Given the description of an element on the screen output the (x, y) to click on. 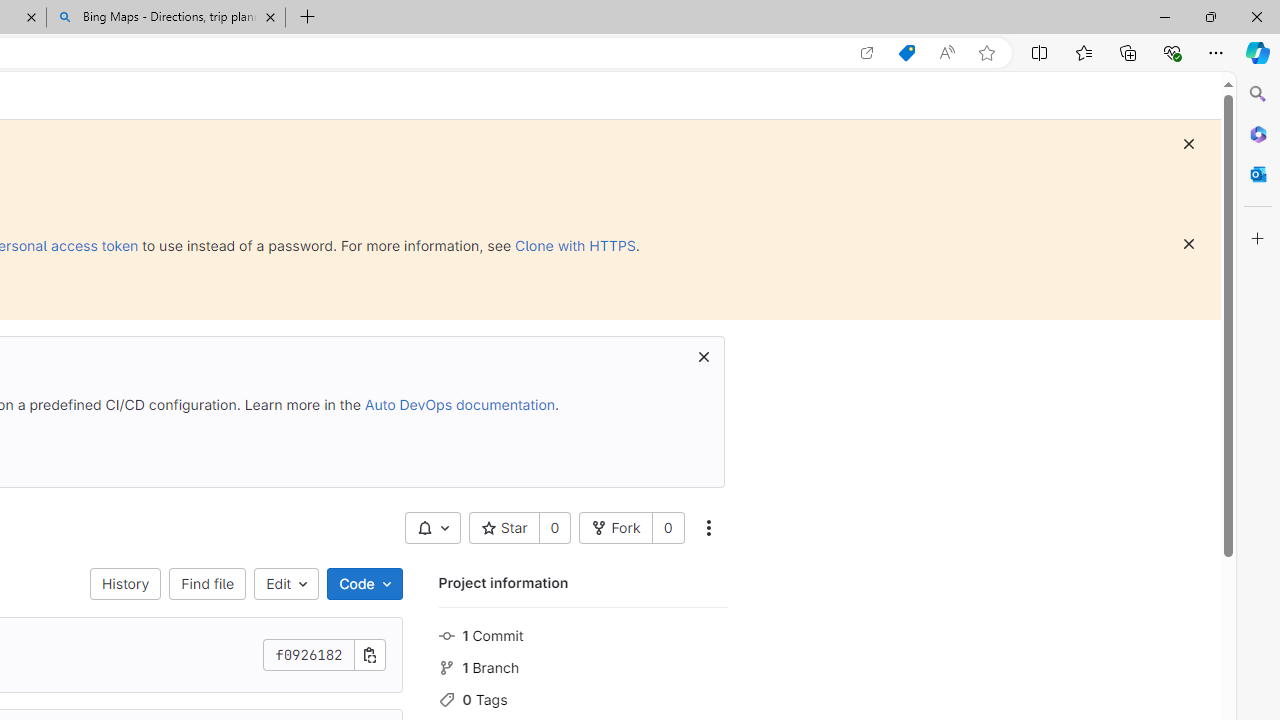
1 Branch (582, 665)
Code (364, 583)
Class: s16 gl-icon gl-button-icon  (703, 357)
Find file (207, 583)
Copy commit SHA (369, 655)
Open in app (867, 53)
Dismiss Auto DevOps box (703, 356)
Class: s16 icon gl-mr-3 gl-text-gray-500 (445, 699)
Auto DevOps documentation (459, 404)
 Star (504, 527)
Clone with HTTPS (575, 245)
